Given the description of an element on the screen output the (x, y) to click on. 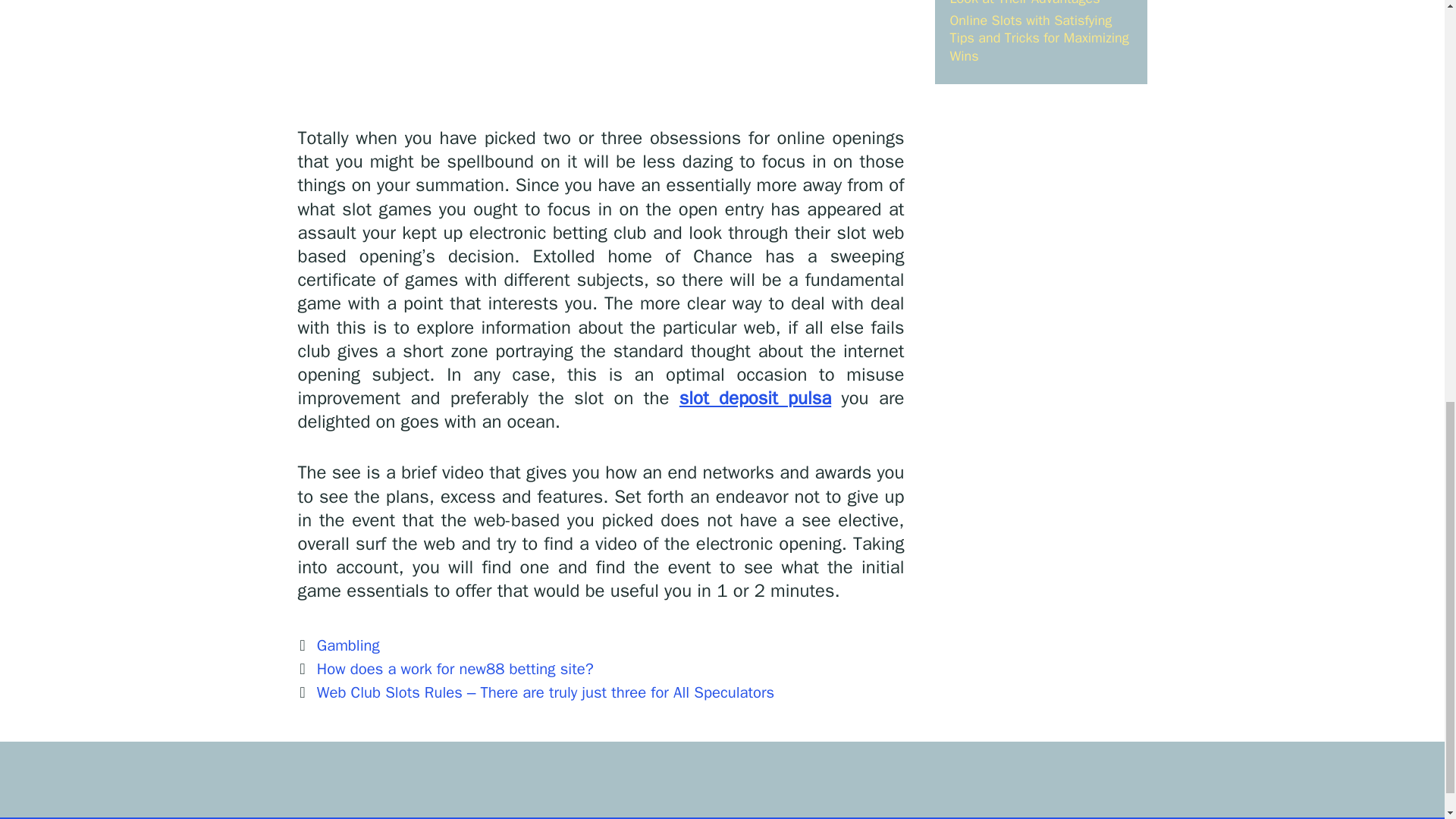
slot deposit pulsa (755, 397)
How does a work for new88 betting site? (455, 668)
Next (535, 691)
Gambling (348, 645)
Previous (444, 668)
